Given the description of an element on the screen output the (x, y) to click on. 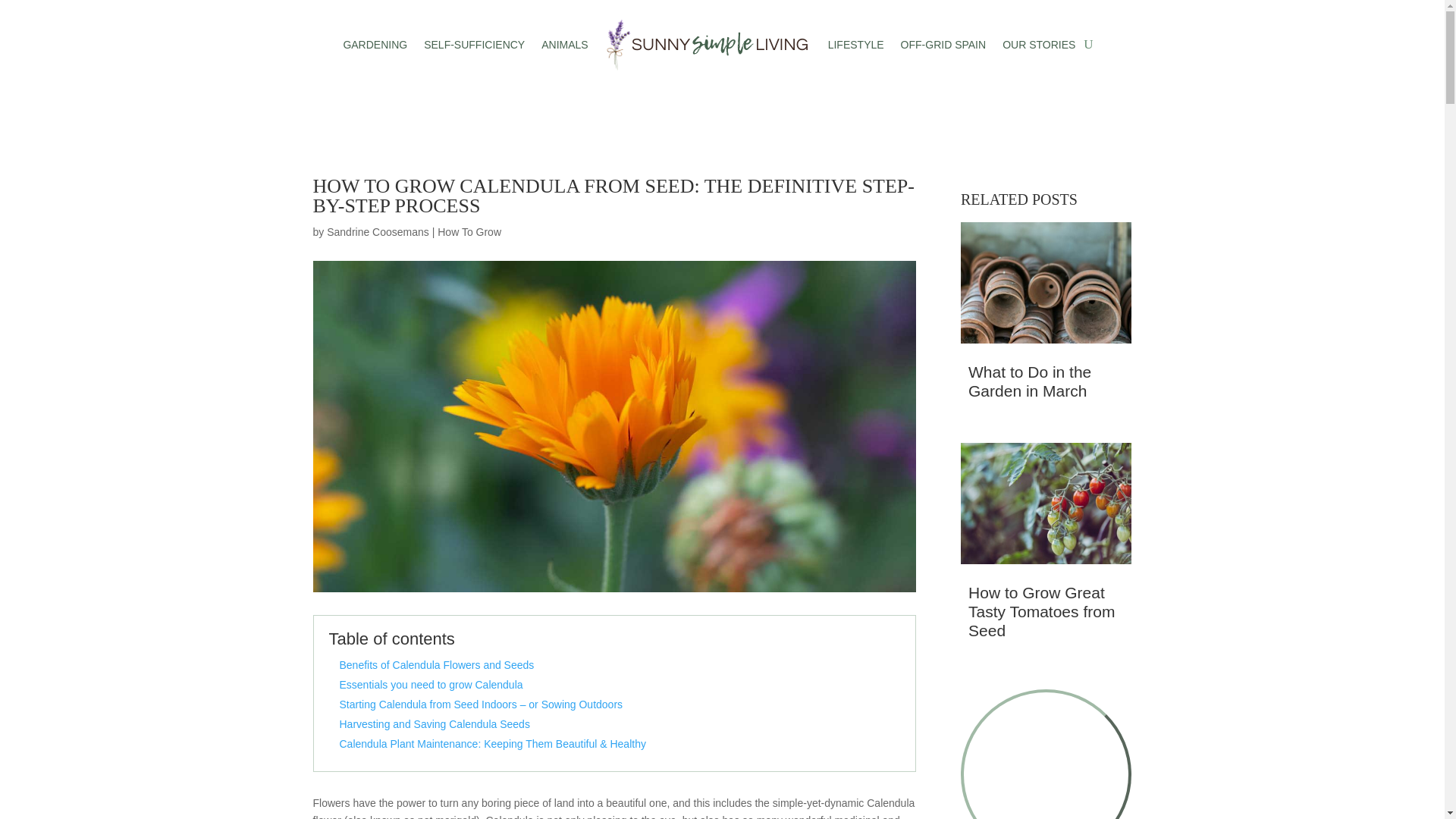
GARDENING (374, 45)
Harvesting and Saving Calendula Seeds (434, 724)
How To Grow (469, 232)
Sandrine Coosemans (377, 232)
Posts by Sandrine Coosemans (377, 232)
Benefits of Calendula Flowers and Seeds (436, 664)
Essentials you need to grow Calendula (430, 684)
OFF-GRID SPAIN (944, 45)
LIFESTYLE (855, 45)
SELF-SUFFICIENCY (473, 45)
OUR STORIES (1039, 45)
